Given the description of an element on the screen output the (x, y) to click on. 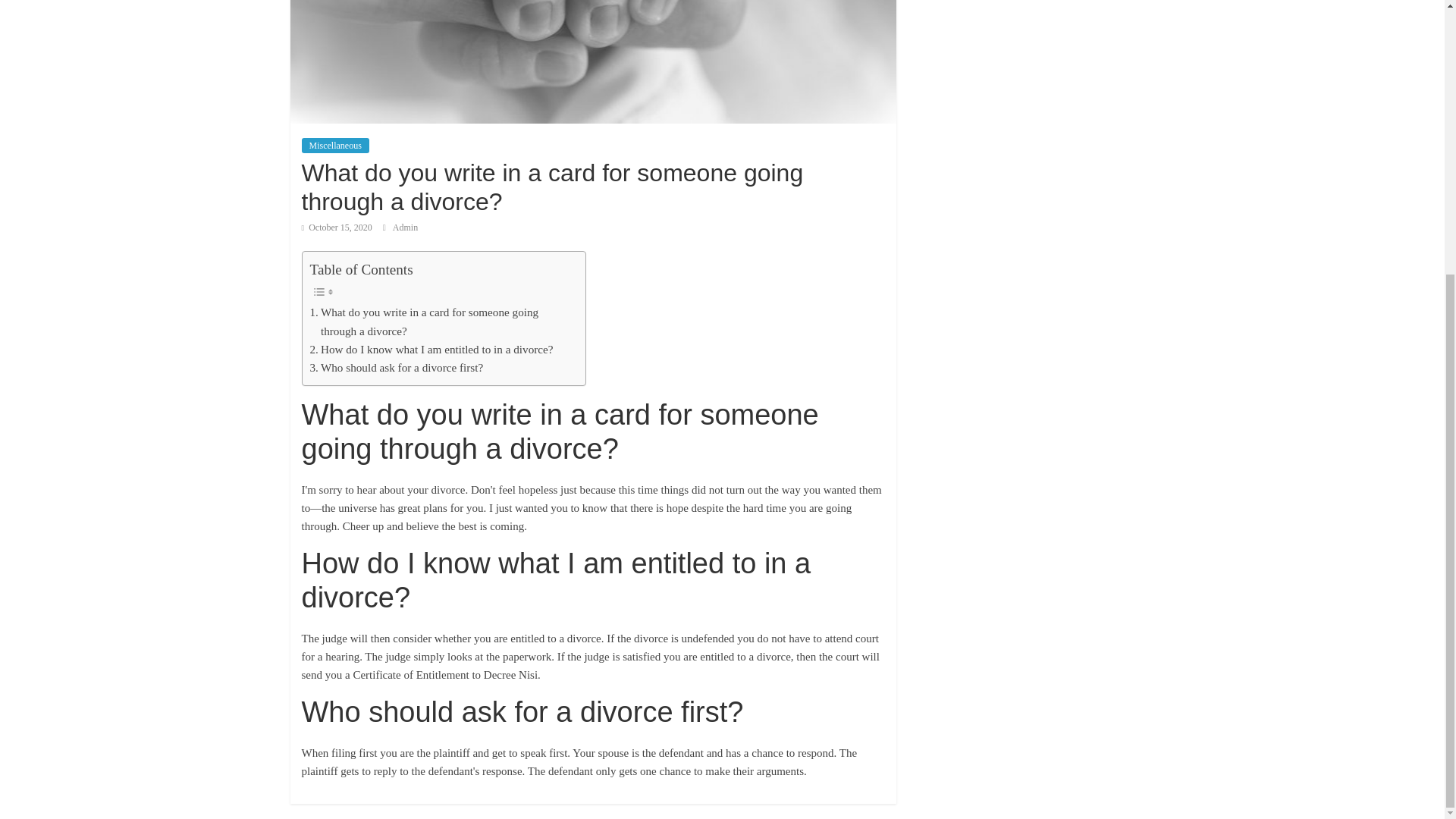
Admin (405, 226)
1:36 pm (336, 226)
October 15, 2020 (336, 226)
Admin (405, 226)
Miscellaneous (335, 145)
How do I know what I am entitled to in a divorce? (430, 349)
Who should ask for a divorce first? (395, 367)
How do I know what I am entitled to in a divorce? (430, 349)
